Given the description of an element on the screen output the (x, y) to click on. 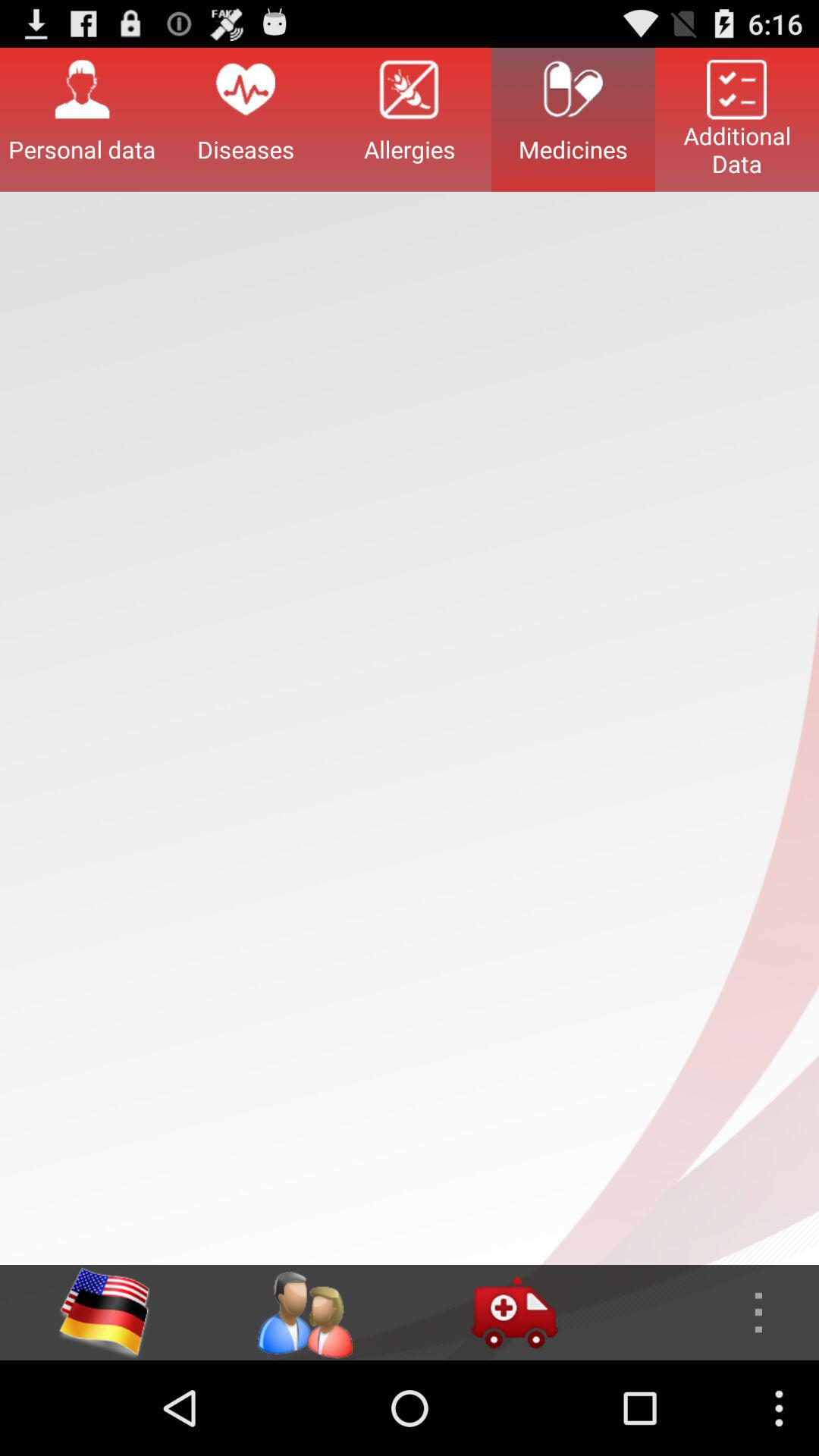
jump until the diseases icon (245, 119)
